Given the description of an element on the screen output the (x, y) to click on. 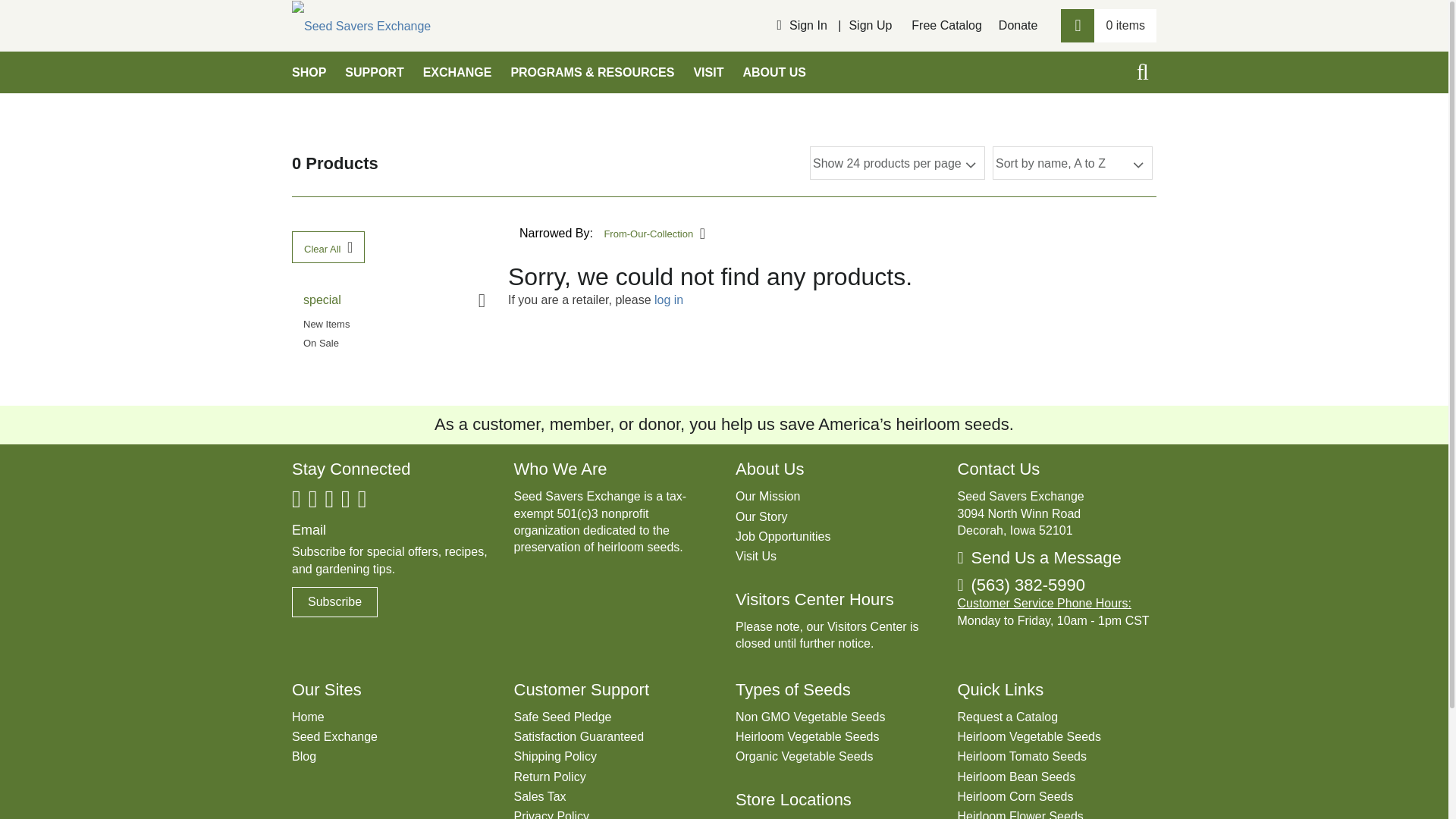
On Sale (393, 342)
Request a free catalog (946, 24)
Sign In (807, 25)
Cart (1108, 25)
SHOP (308, 72)
0 items (1108, 25)
special (393, 299)
Sign Up (870, 25)
Free Catalog (946, 24)
New Items (393, 323)
Seed Savers Exchange (361, 25)
Donate (1018, 24)
